Given the description of an element on the screen output the (x, y) to click on. 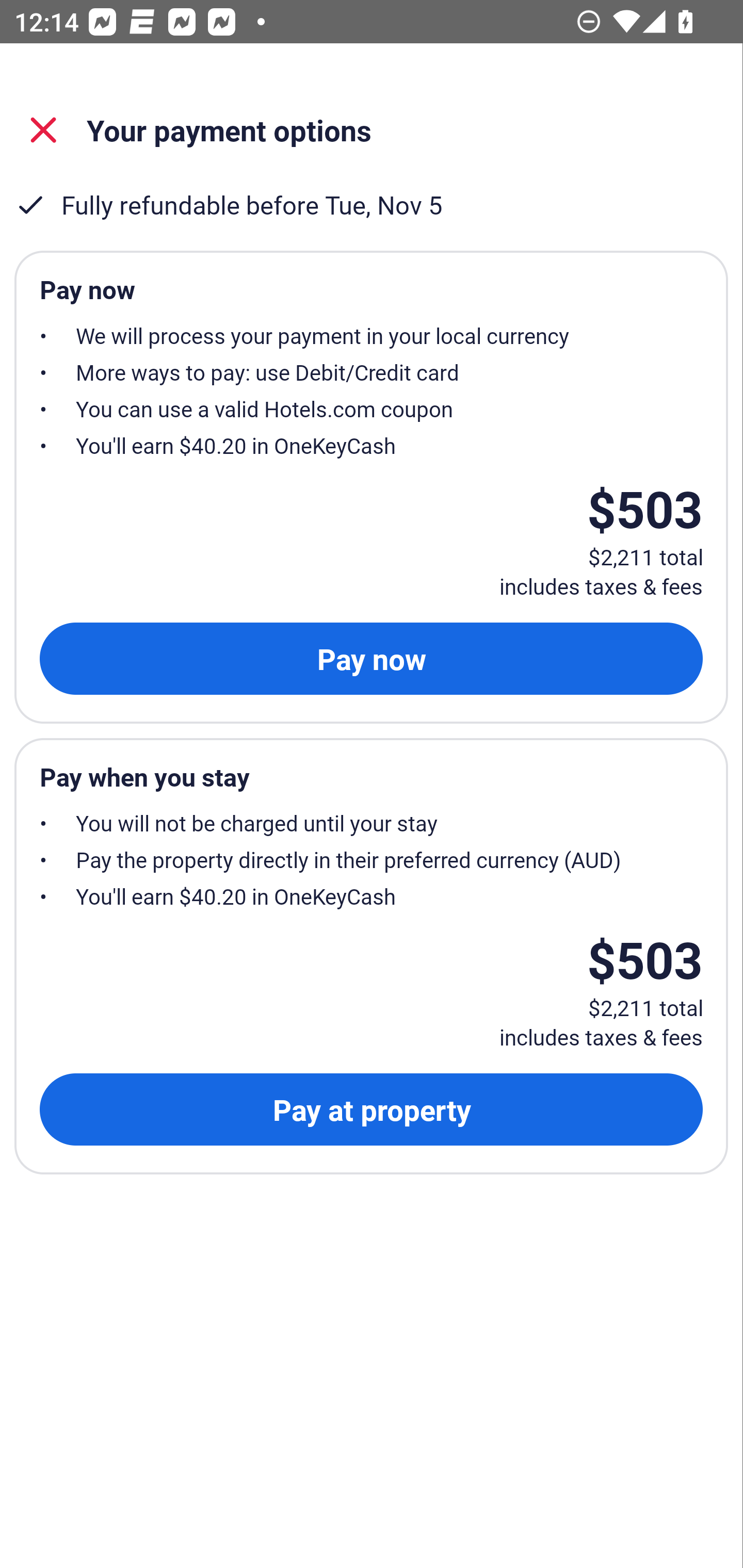
Pay now (370, 658)
Pay at property (370, 1109)
